Given the description of an element on the screen output the (x, y) to click on. 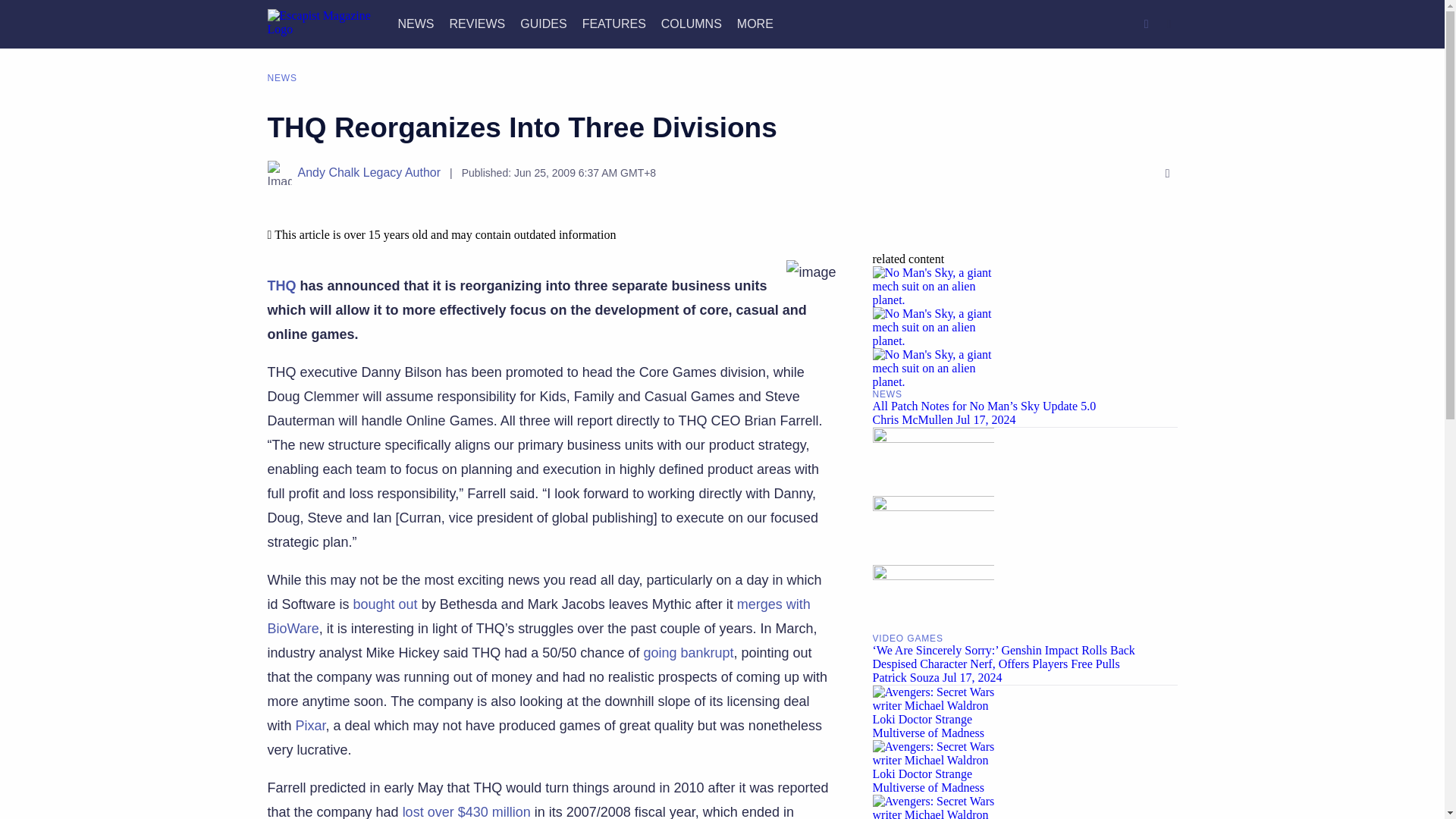
COLUMNS (691, 23)
REVIEWS (476, 23)
GUIDES (542, 23)
NEWS (415, 23)
FEATURES (614, 23)
